Given the description of an element on the screen output the (x, y) to click on. 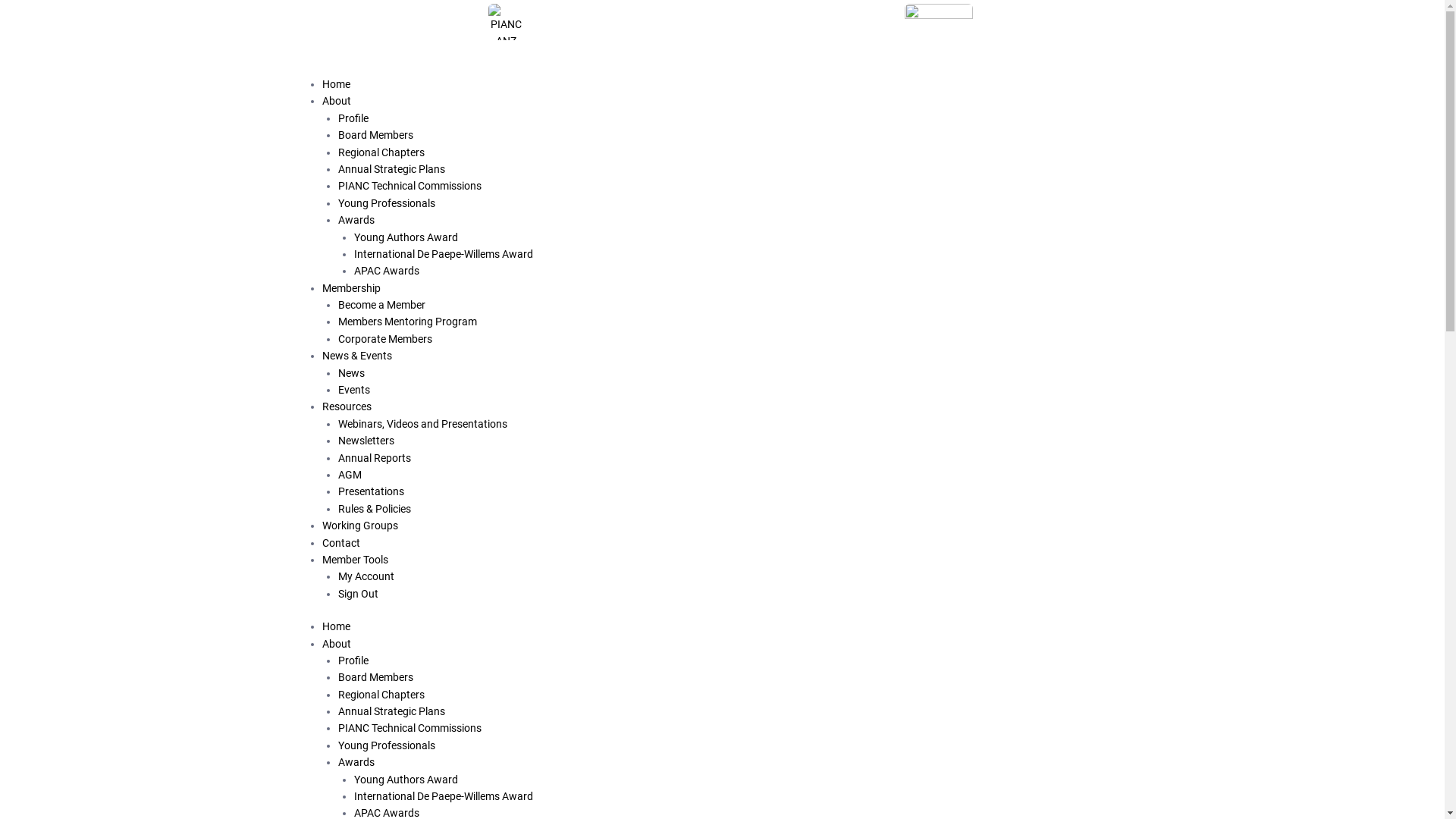
Annual Reports Element type: text (374, 457)
Webinars, Videos and Presentations Element type: text (422, 423)
Working Groups Element type: text (359, 525)
Young Professionals Element type: text (386, 745)
International De Paepe-Willems Award Element type: text (442, 796)
Board Members Element type: text (375, 677)
Resources Element type: text (345, 406)
International De Paepe-Willems Award Element type: text (442, 253)
APAC Awards Element type: text (385, 270)
About Element type: text (335, 643)
Become a Member Element type: text (381, 304)
Regional Chapters Element type: text (381, 152)
Contact Element type: text (340, 542)
Member Tools Element type: text (354, 559)
Young Professionals Element type: text (386, 203)
About Element type: text (335, 100)
Awards Element type: text (356, 762)
PIANC Technical Commissions Element type: text (409, 727)
News Element type: text (351, 373)
My Account Element type: text (366, 576)
Newsletters Element type: text (366, 440)
Profile Element type: text (353, 660)
PIANC Technical Commissions Element type: text (409, 185)
News & Events Element type: text (356, 355)
Rules & Policies Element type: text (374, 508)
AGM Element type: text (349, 474)
Awards Element type: text (356, 219)
Annual Strategic Plans Element type: text (391, 169)
Sign Out Element type: text (358, 593)
Corporate Members Element type: text (385, 338)
Annual Strategic Plans Element type: text (391, 711)
Members Mentoring Program Element type: text (407, 321)
Regional Chapters Element type: text (381, 694)
Young Authors Award Element type: text (405, 779)
Home Element type: text (335, 626)
Young Authors Award Element type: text (405, 237)
Home Element type: text (335, 84)
Profile Element type: text (353, 118)
Events Element type: text (354, 389)
Board Members Element type: text (375, 134)
Presentations Element type: text (371, 491)
Membership Element type: text (350, 288)
